Given the description of an element on the screen output the (x, y) to click on. 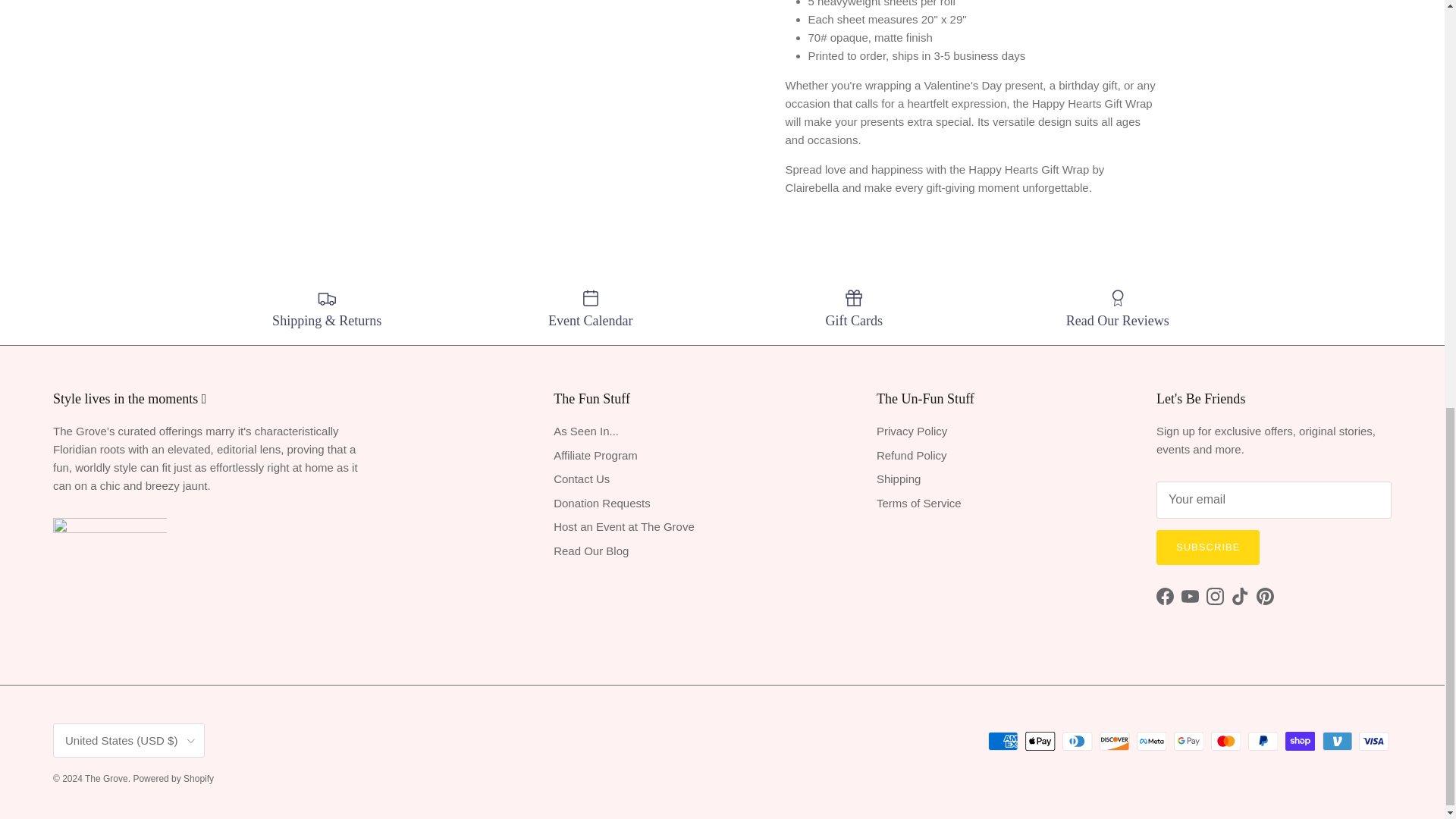
The Grove on YouTube (1189, 596)
The Grove on Instagram (1215, 596)
The Grove on Facebook (1164, 596)
The Grove on Pinterest (1265, 596)
The Grove on TikTok (1240, 596)
